Given the description of an element on the screen output the (x, y) to click on. 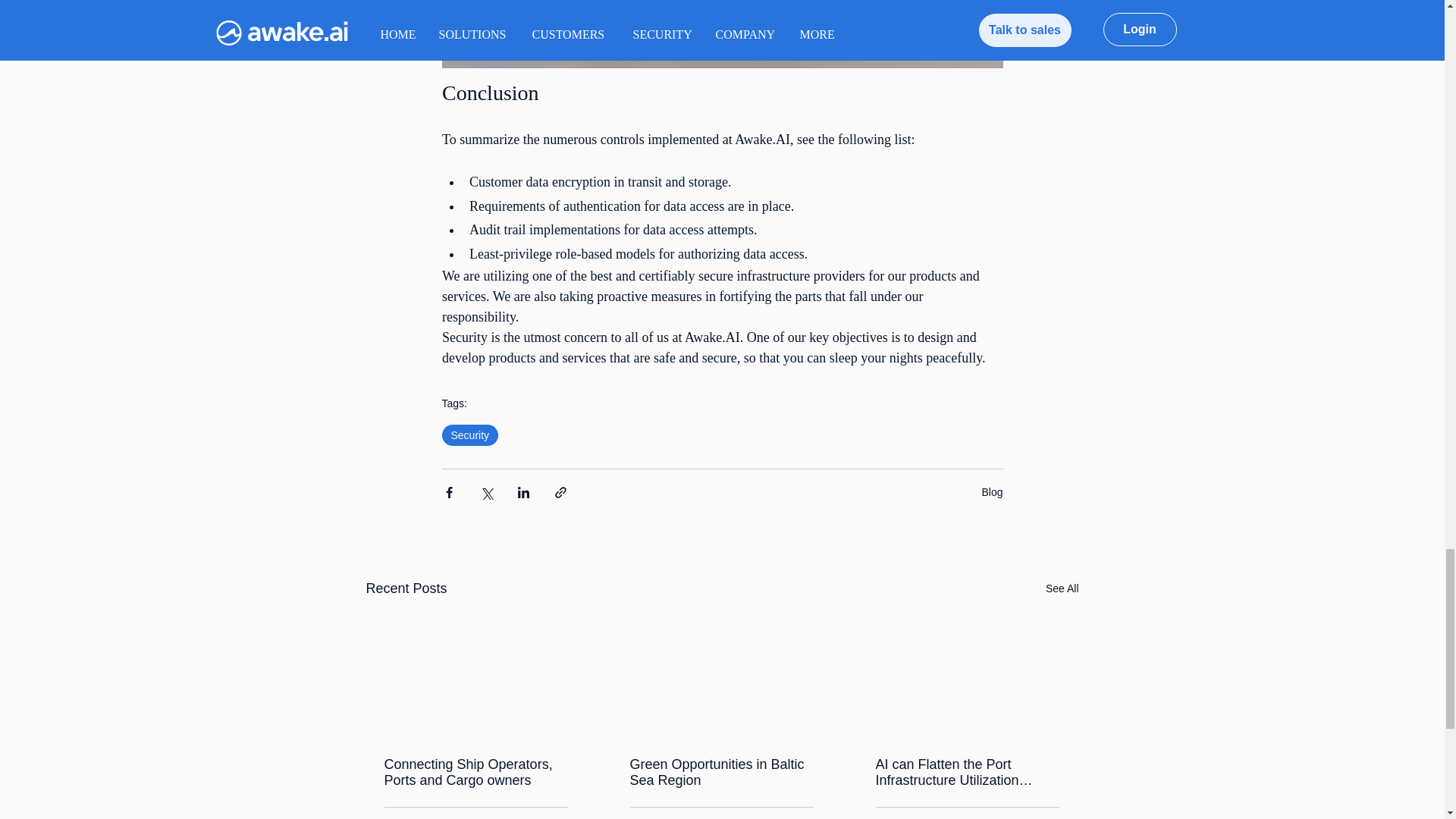
Security (469, 435)
